Given the description of an element on the screen output the (x, y) to click on. 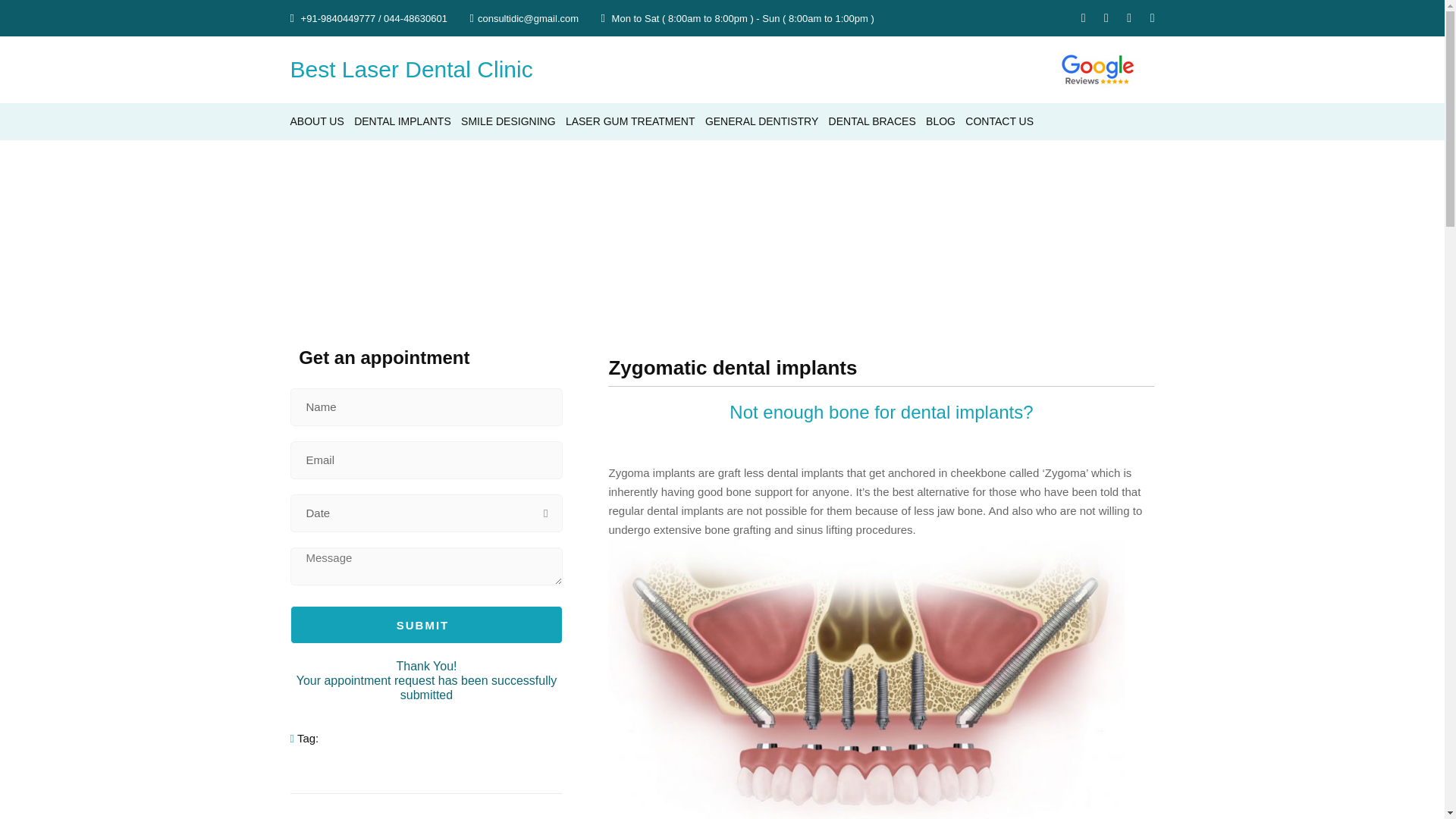
DENTAL IMPLANTS (402, 121)
ABOUT US (316, 121)
Submit (425, 624)
ABOUT US (316, 121)
DENTAL IMPLANTS (402, 121)
